Given the description of an element on the screen output the (x, y) to click on. 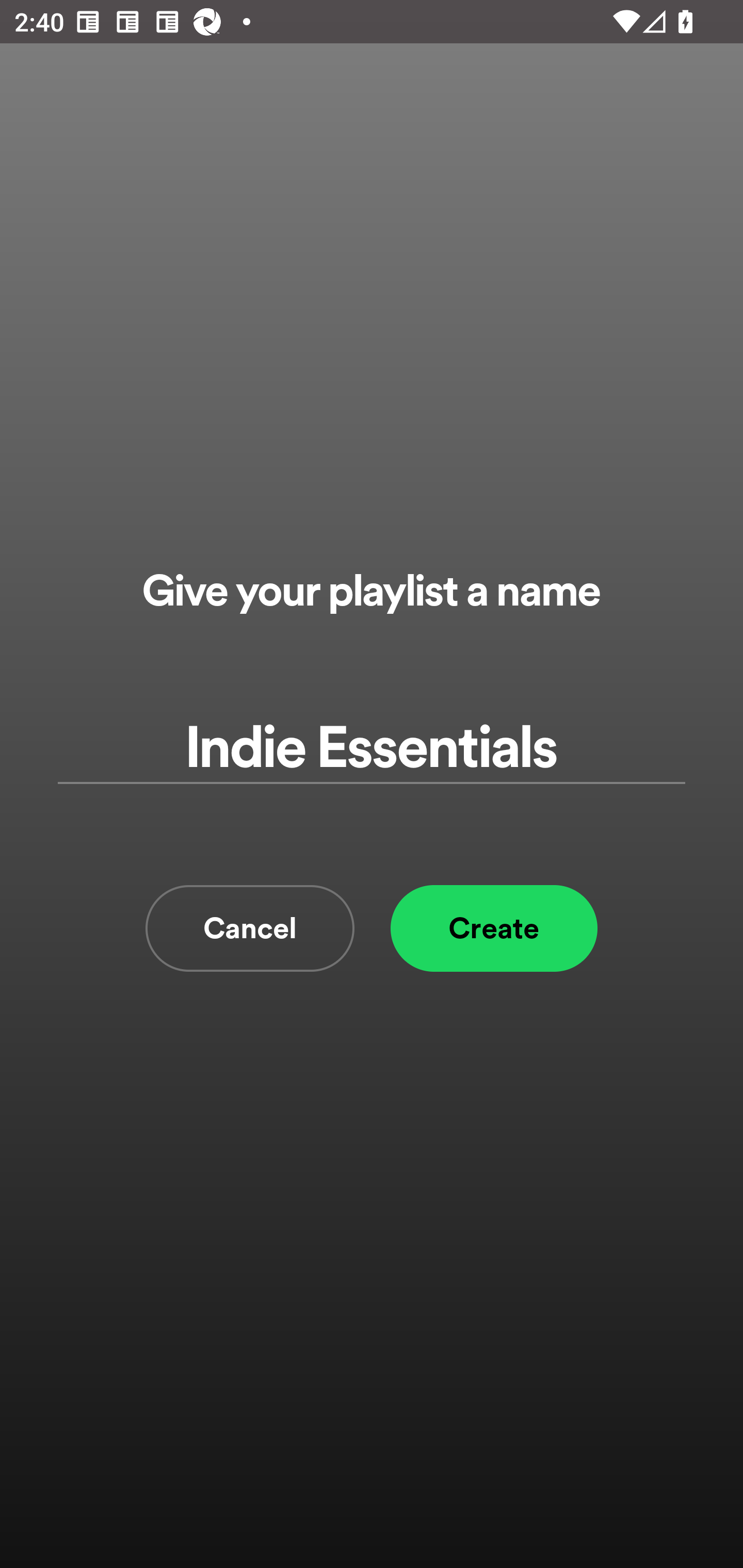
Indie Essentials Add a playlist name (371, 749)
Cancel (249, 928)
Create (493, 928)
